Given the description of an element on the screen output the (x, y) to click on. 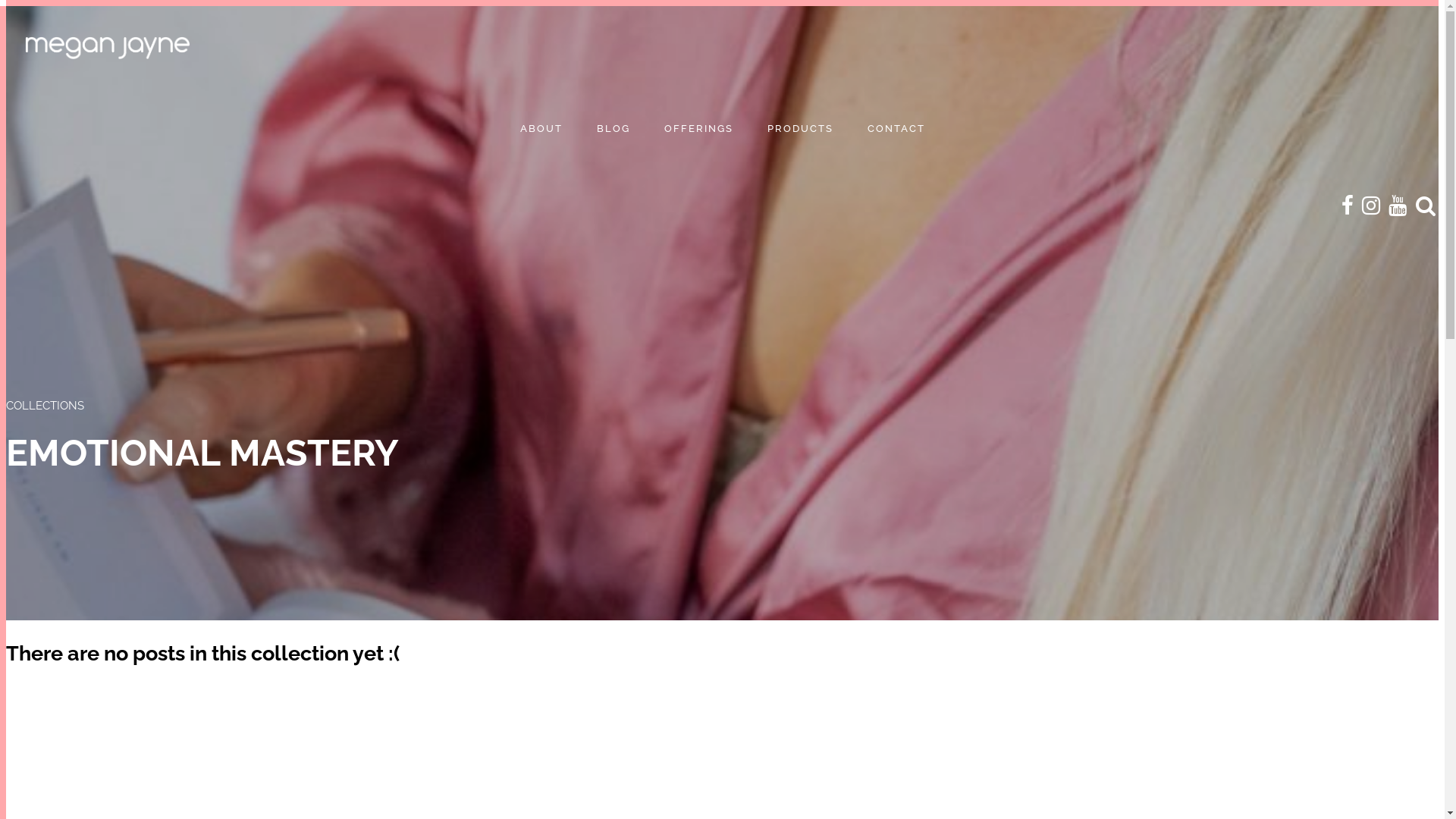
Megan Jayne YouTube Element type: hover (1397, 205)
Megan Jayne Instagram Element type: hover (1370, 205)
PRODUCTS Element type: text (800, 128)
BLOG Element type: text (612, 128)
CONTACT Element type: text (896, 128)
OFFERINGS Element type: text (698, 128)
Megan Jayne Facebook Element type: hover (1347, 205)
ABOUT Element type: text (541, 128)
